Given the description of an element on the screen output the (x, y) to click on. 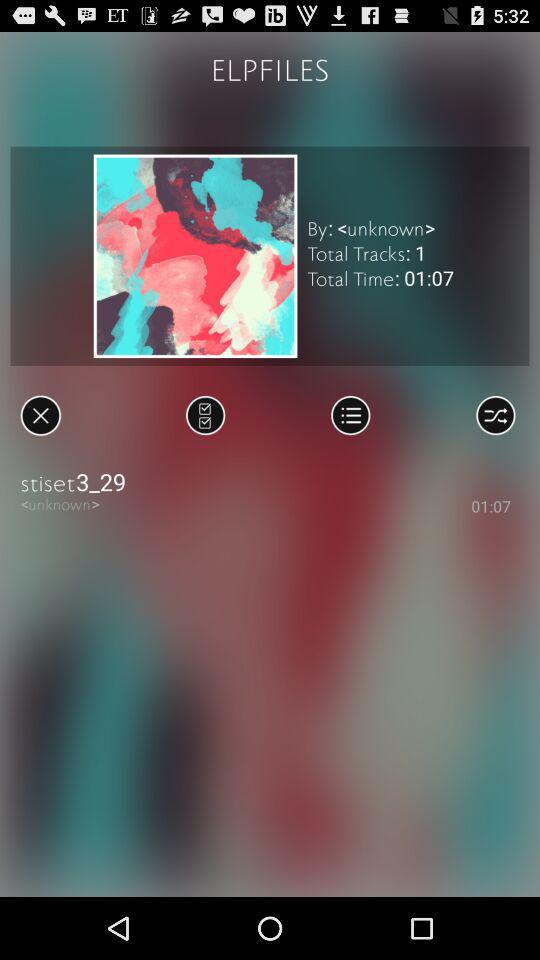
select next tracks (205, 415)
